Given the description of an element on the screen output the (x, y) to click on. 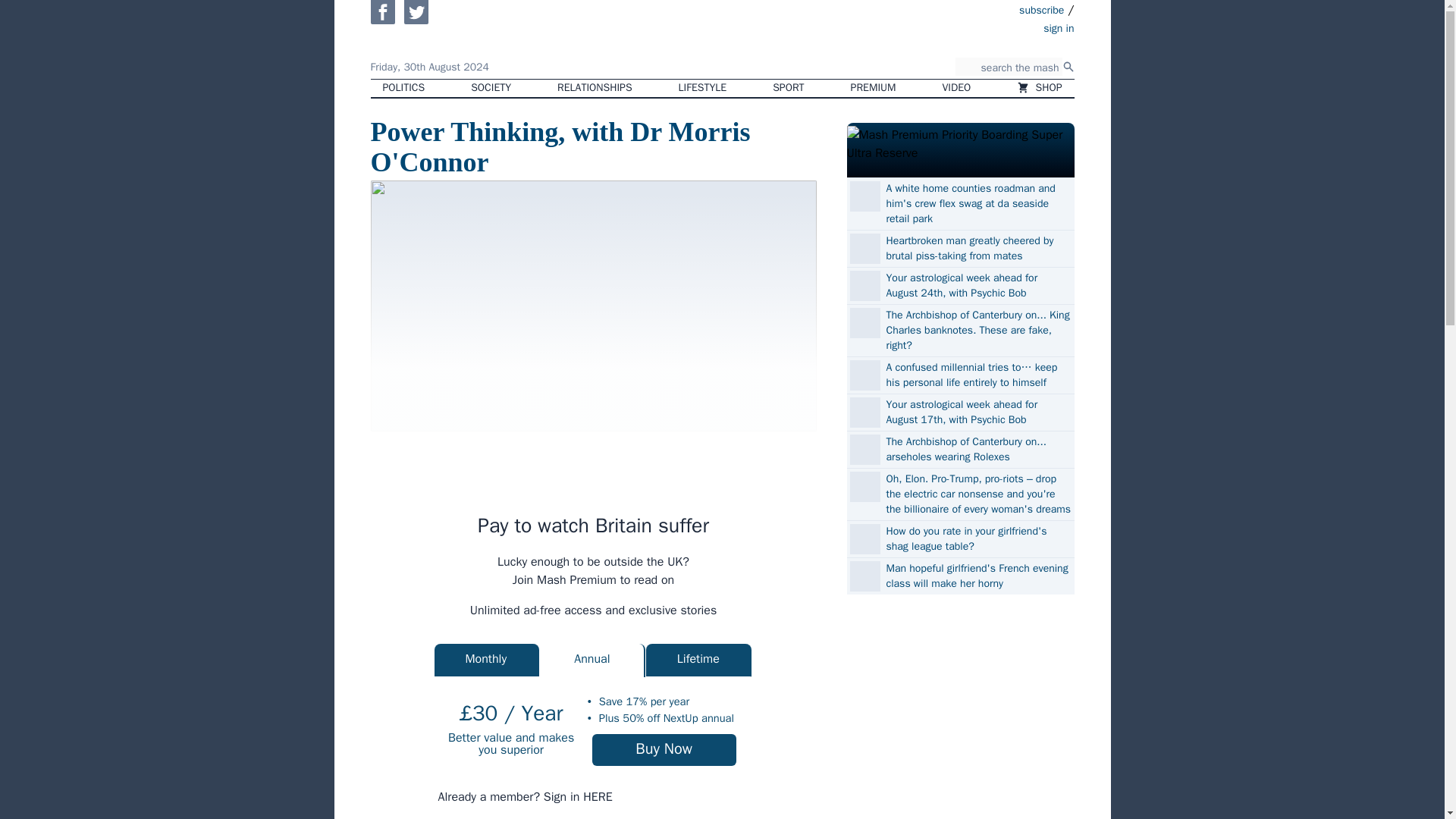
sign in (970, 27)
subscribe (1041, 9)
POLITICS (402, 88)
PREMIUM (873, 88)
SOCIETY (490, 88)
Buy Now (664, 749)
